Given the description of an element on the screen output the (x, y) to click on. 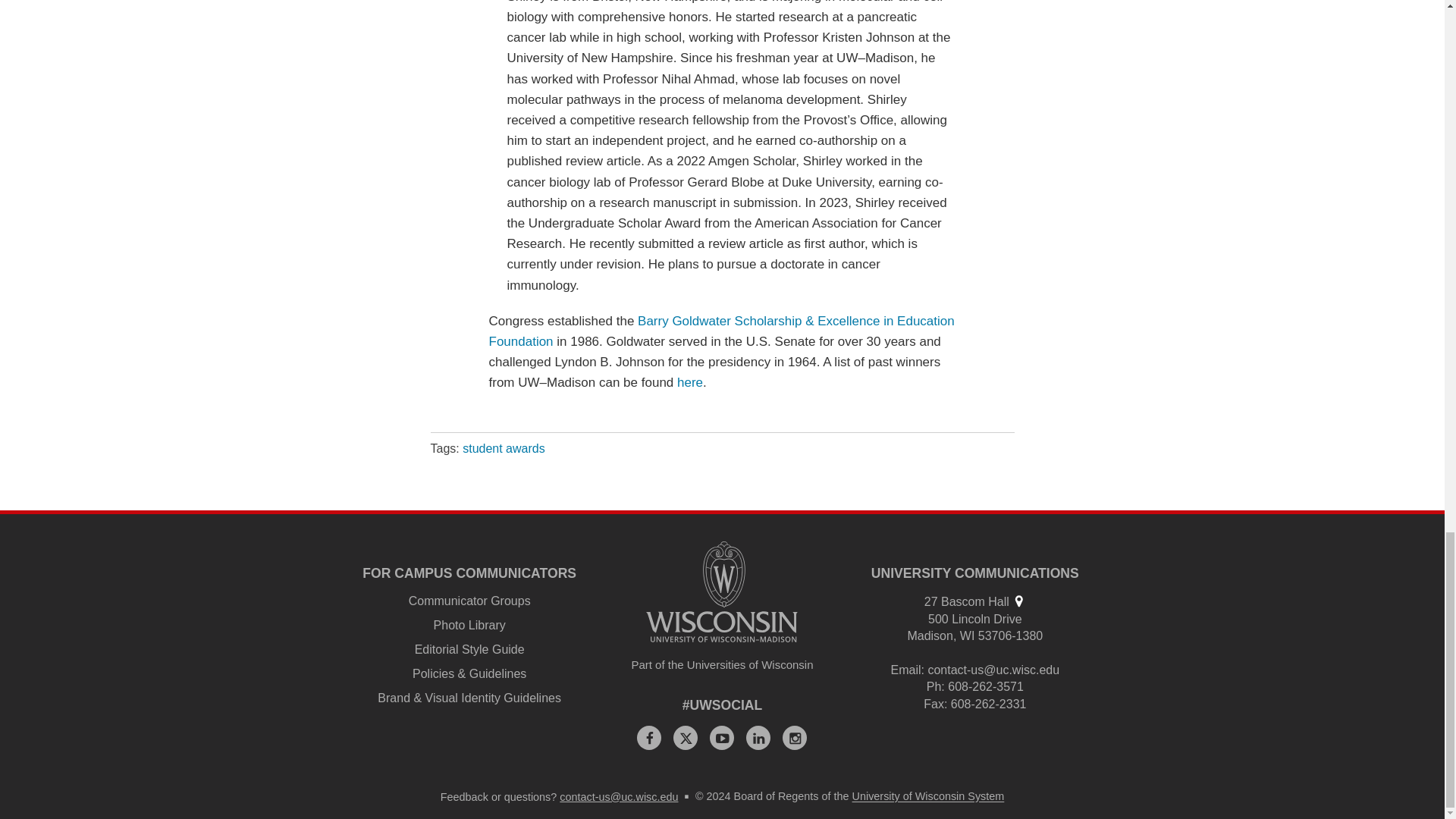
X, formerly Twitter (684, 737)
student awards (503, 448)
Wisconsin (967, 635)
Instagram (794, 737)
View on campus map (1018, 600)
Linked In (757, 737)
Communicator Groups (470, 600)
Social media links (722, 704)
Part of the Universities of Wisconsin (721, 665)
Editorial Style Guide (469, 649)
here (690, 382)
University logo that links to main university website (721, 637)
Facebook (649, 737)
YouTube (721, 737)
University logo that links to main university website (721, 591)
